Given the description of an element on the screen output the (x, y) to click on. 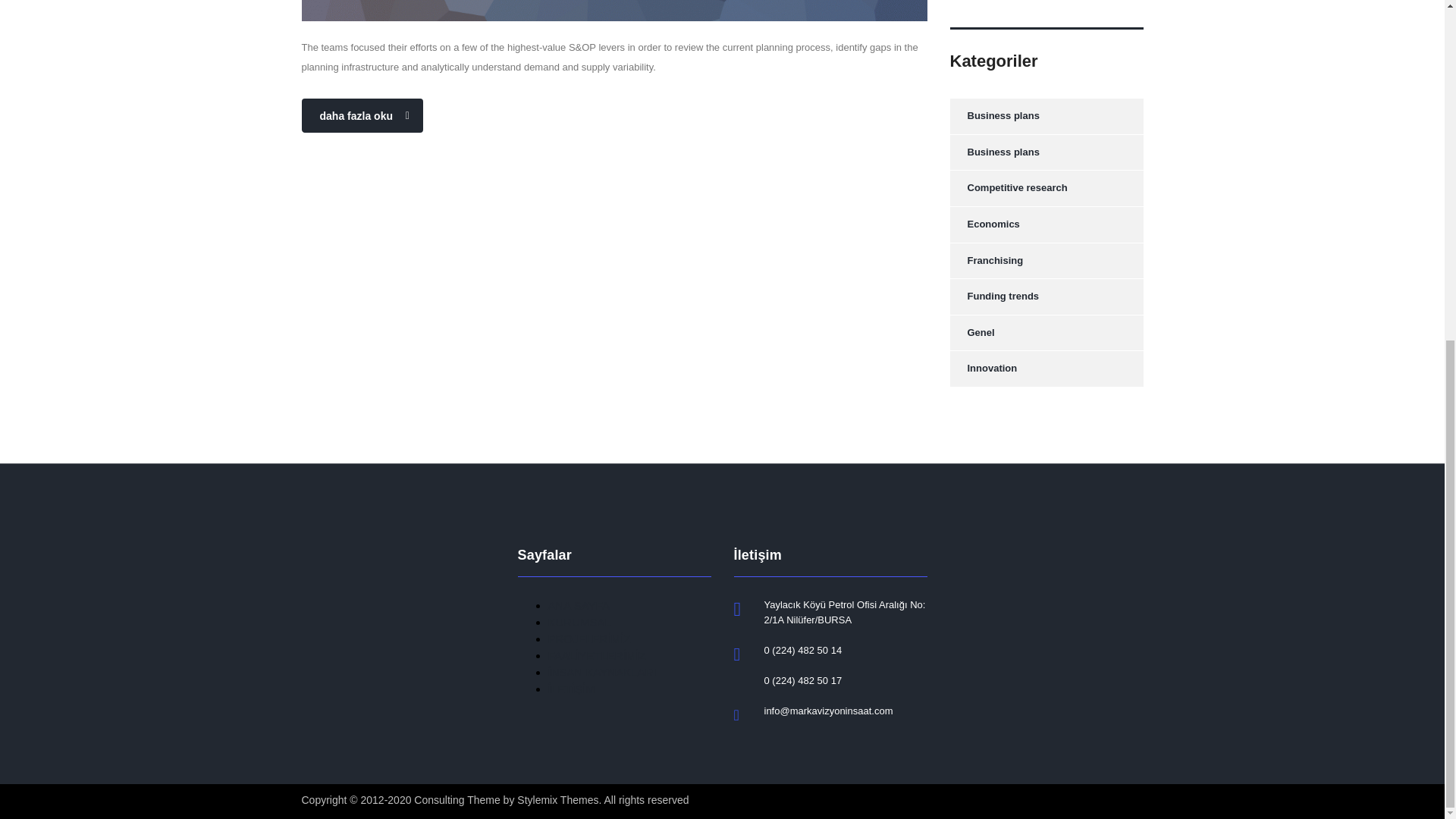
Economics (984, 224)
daha fazla oku (362, 115)
Franchising (986, 260)
KURUMSAL (578, 621)
Business plans (994, 116)
Consulting Theme (456, 799)
Stylemix Themes (557, 799)
Business plans (994, 152)
Funding trends (994, 296)
Competitive research (1008, 188)
